Given the description of an element on the screen output the (x, y) to click on. 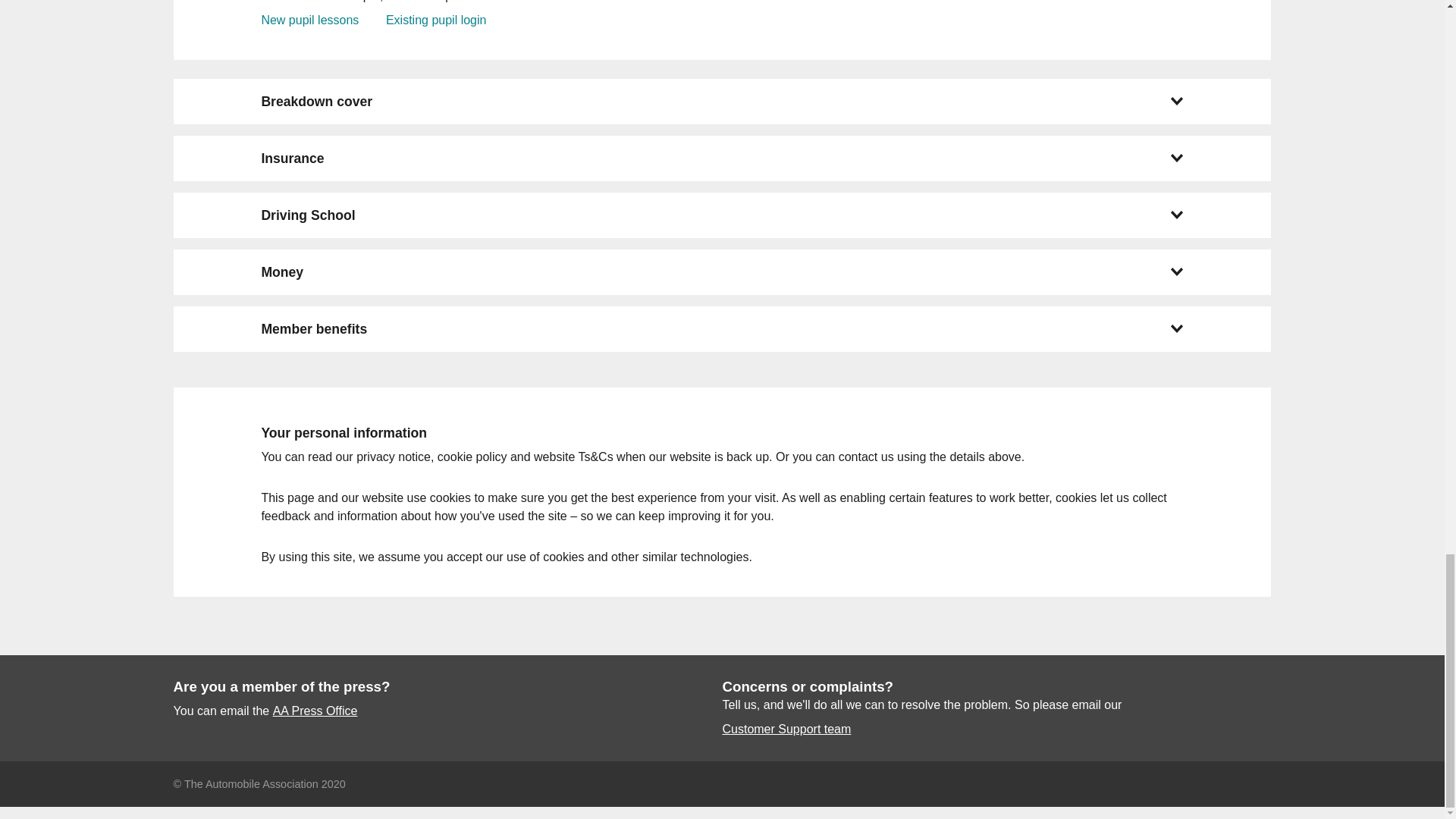
AA Press Office (315, 710)
Customer Support team (786, 729)
Existing pupil login (435, 20)
New pupil lessons (309, 20)
